Given the description of an element on the screen output the (x, y) to click on. 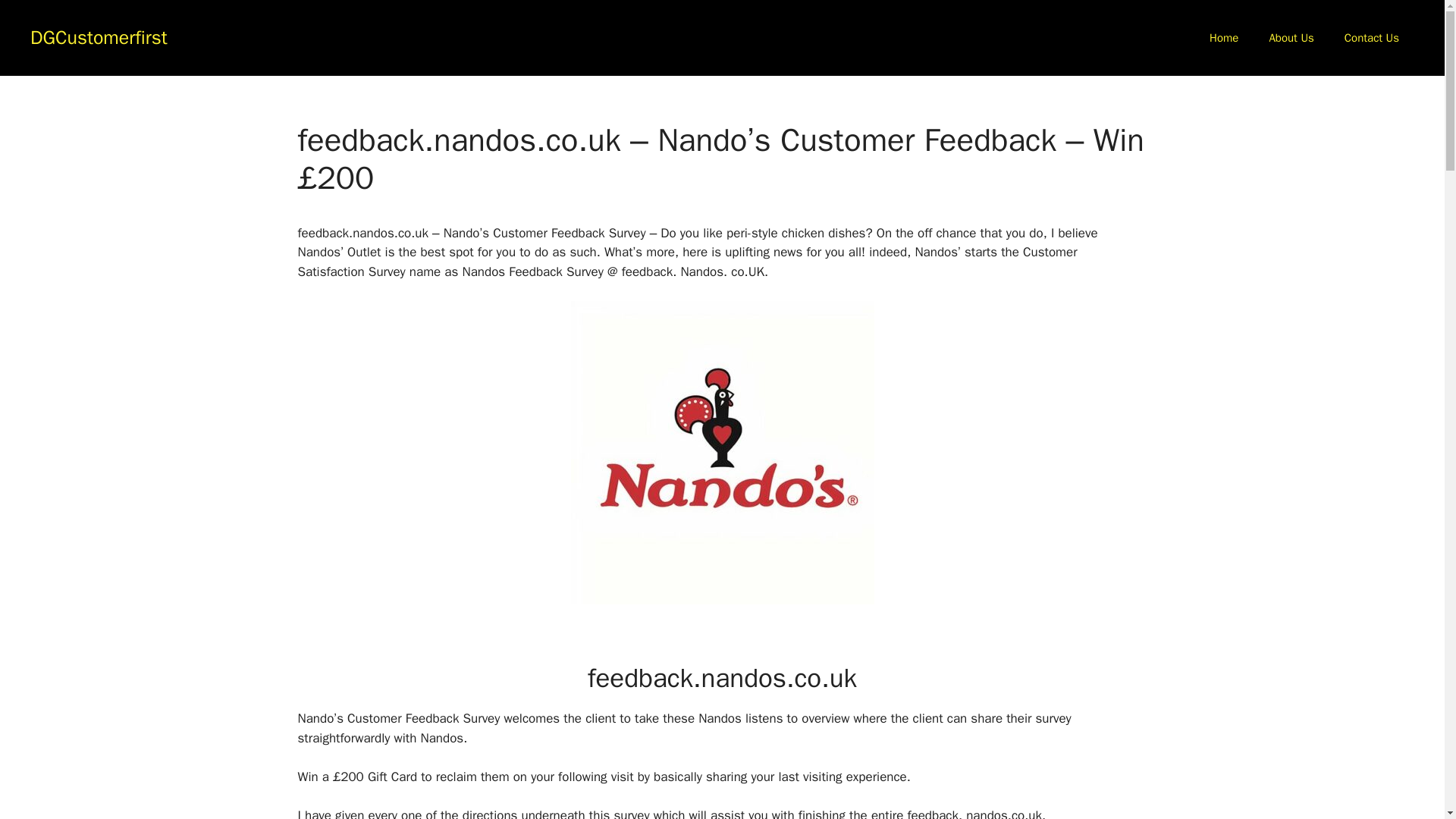
DGCustomerfirst (98, 37)
Contact Us (1371, 37)
About Us (1290, 37)
Home (1223, 37)
